Given the description of an element on the screen output the (x, y) to click on. 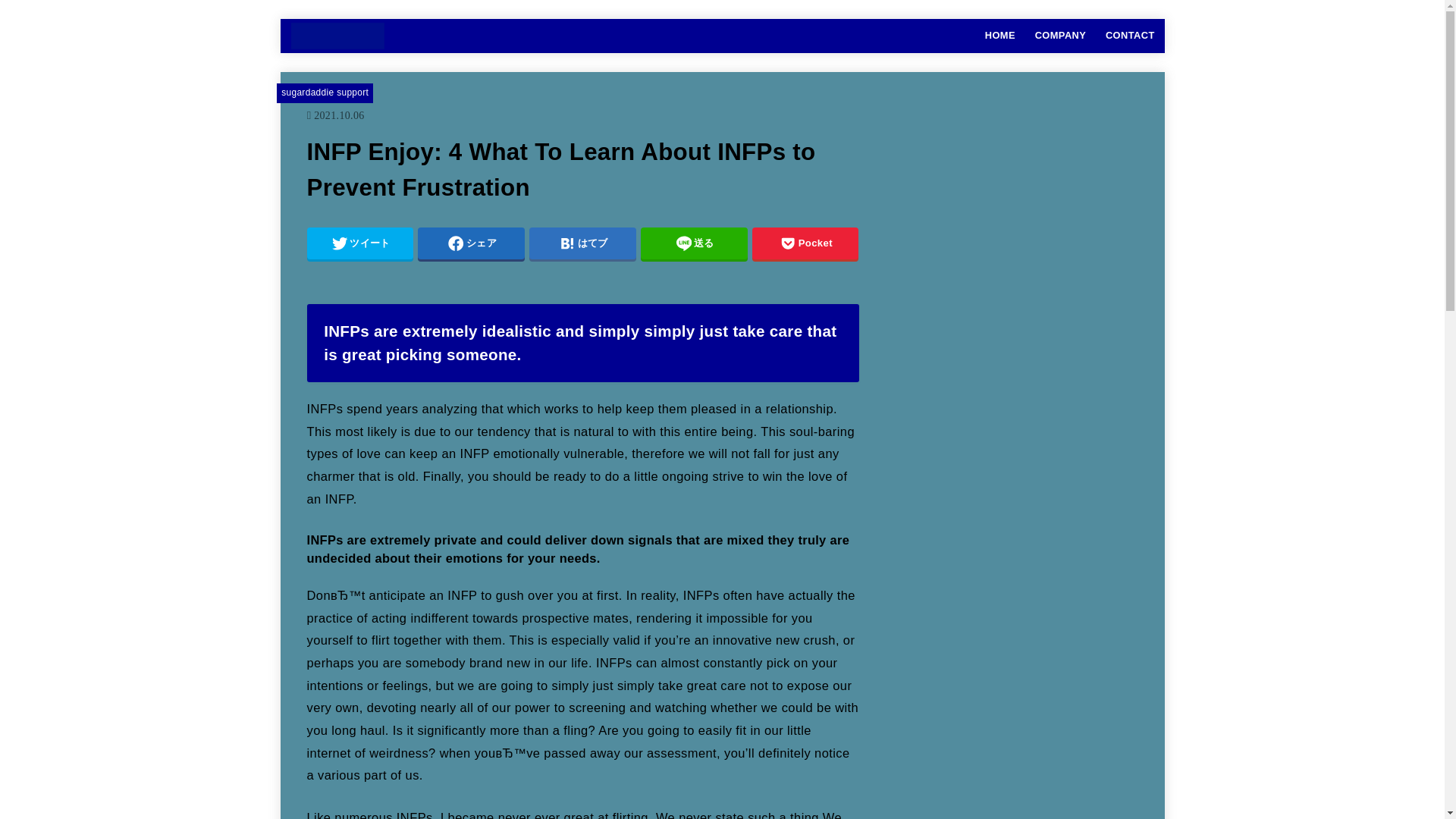
HOME (1000, 35)
sugardaddie support (324, 91)
Pocket (805, 243)
CONTACT (1129, 35)
COMPANY (1060, 35)
